Given the description of an element on the screen output the (x, y) to click on. 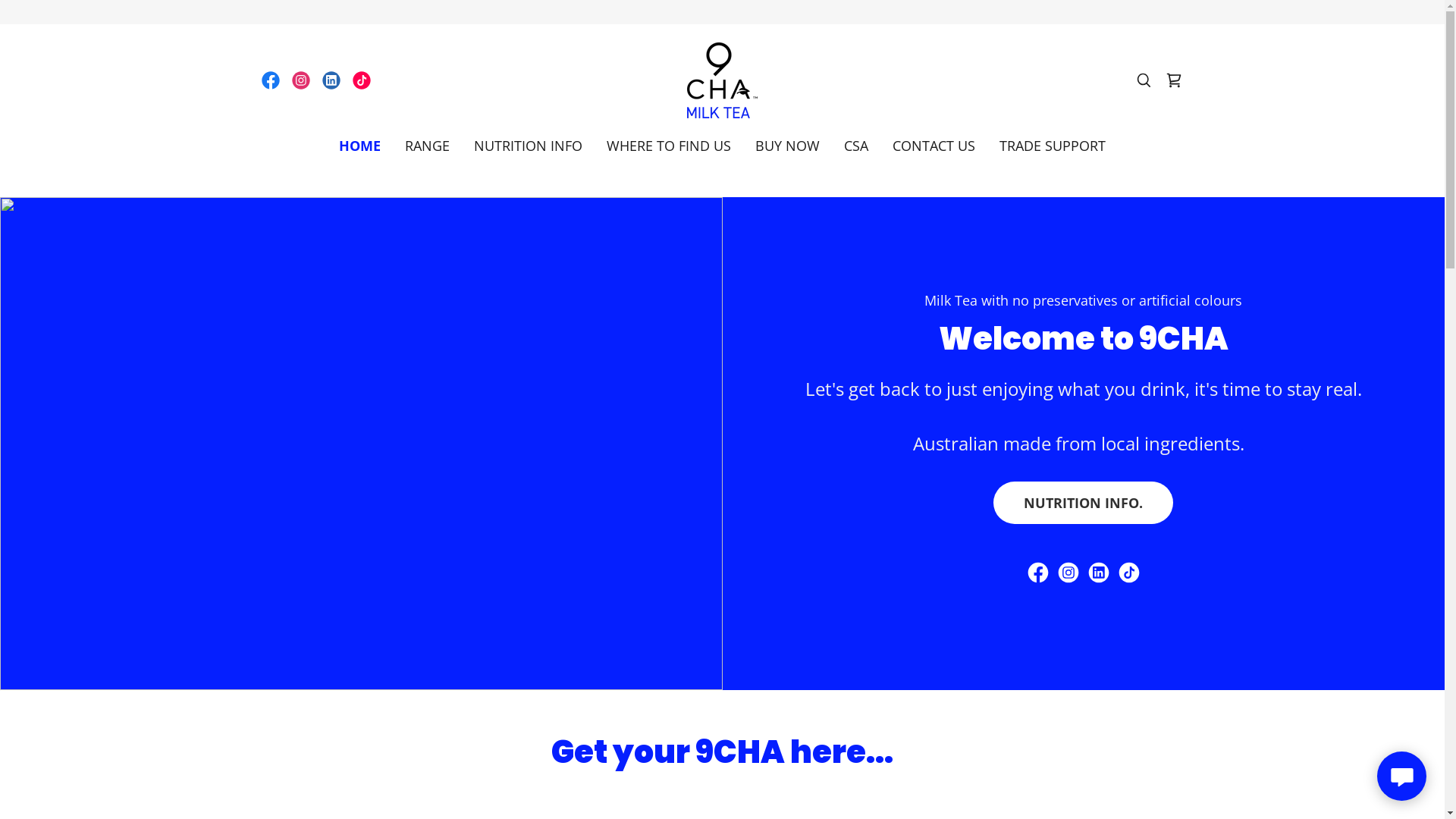
CSA Element type: text (855, 145)
HOME Element type: text (359, 145)
TRADE SUPPORT Element type: text (1052, 145)
BUY NOW Element type: text (787, 145)
NUTRITION INFO. Element type: text (1083, 502)
NUTRITION INFO Element type: text (527, 145)
WHERE TO FIND US Element type: text (668, 145)
CONTACT US Element type: text (933, 145)
RANGE Element type: text (427, 145)
